Given the description of an element on the screen output the (x, y) to click on. 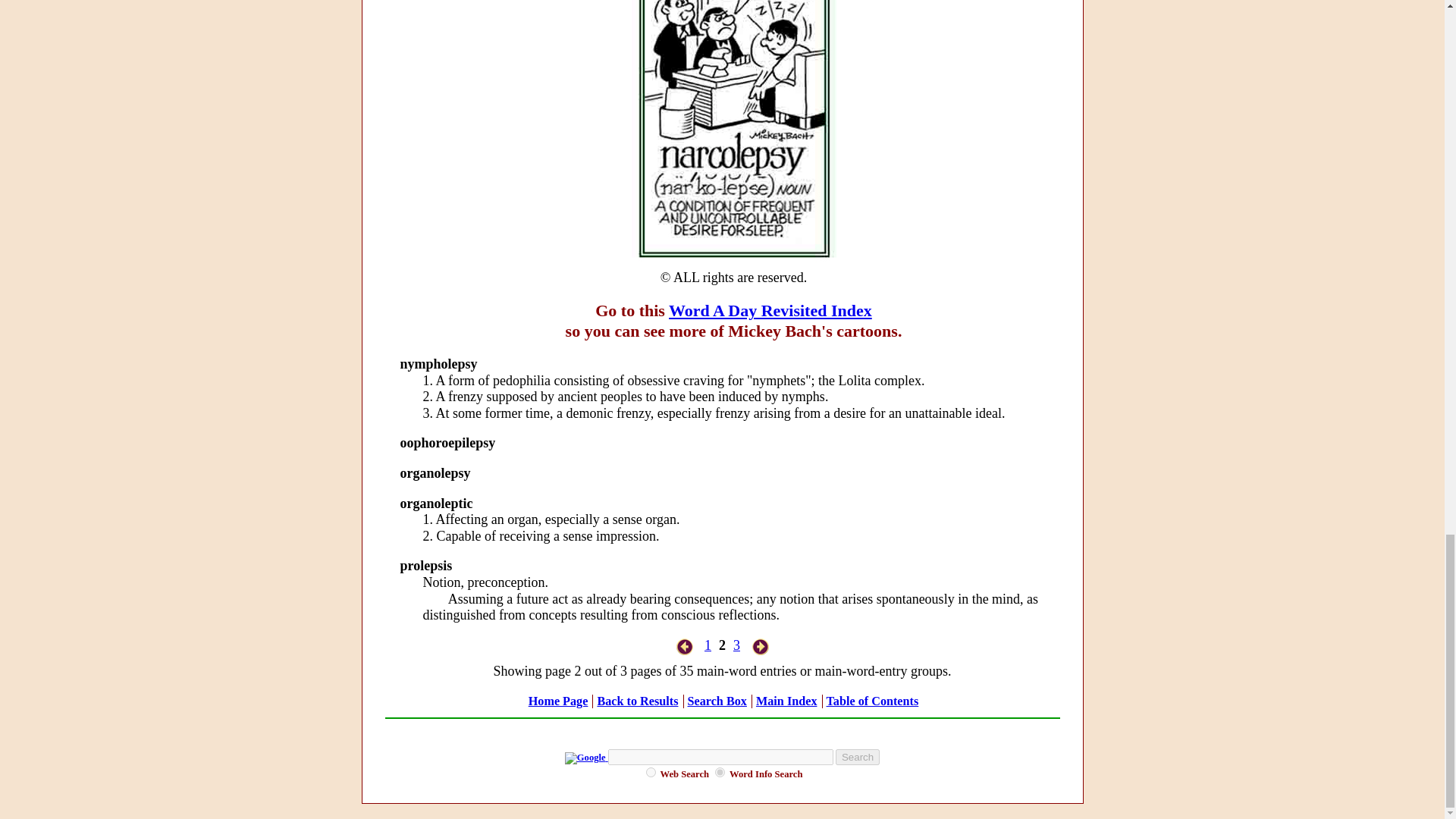
Home Page (558, 701)
3 (736, 645)
Main Index (785, 701)
Search (857, 756)
1 (707, 645)
Table of Contents (872, 701)
Back to Results (637, 701)
Search Box (716, 701)
Word A Day Revisited Index (770, 310)
Search (857, 756)
